Given the description of an element on the screen output the (x, y) to click on. 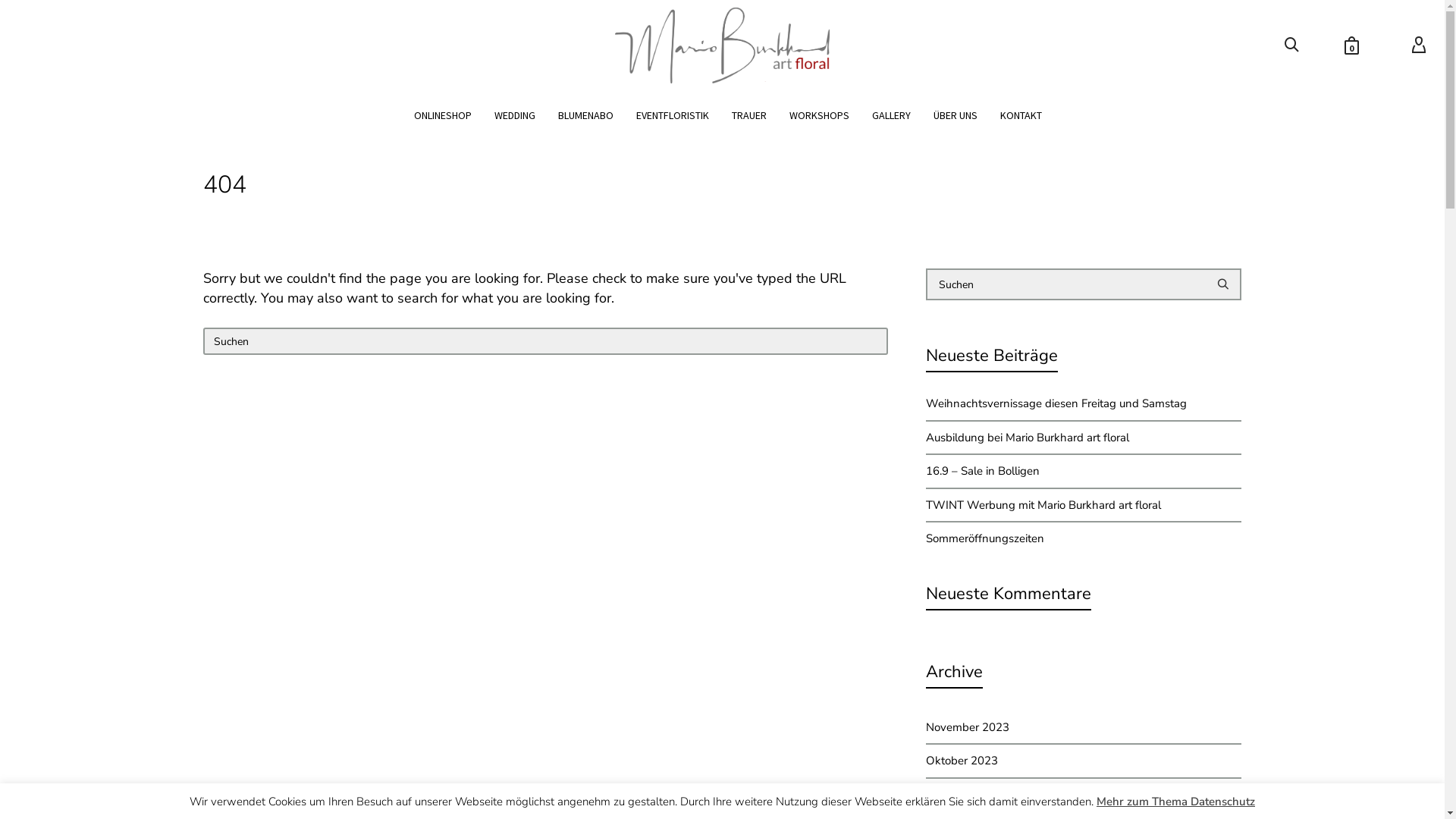
KONTAKT Element type: text (1020, 115)
GALLERY Element type: text (891, 115)
November 2023 Element type: text (1083, 727)
BLUMENABO Element type: text (585, 115)
WORKSHOPS Element type: text (819, 115)
Mehr zum Thema Datenschutz Element type: text (1175, 801)
September 2023 Element type: text (1083, 794)
TWINT Werbung mit Mario Burkhard art floral Element type: text (1083, 504)
EVENTFLORISTIK Element type: text (672, 115)
WEDDING Element type: text (514, 115)
Search Element type: text (1083, 308)
ONLINESHOP Element type: text (442, 115)
Oktober 2023 Element type: text (1083, 760)
Ausbildung bei Mario Burkhard art floral Element type: text (1083, 437)
Weihnachtsvernissage diesen Freitag und Samstag Element type: text (1083, 403)
TRAUER Element type: text (749, 115)
0 Element type: text (1347, 45)
